Given the description of an element on the screen output the (x, y) to click on. 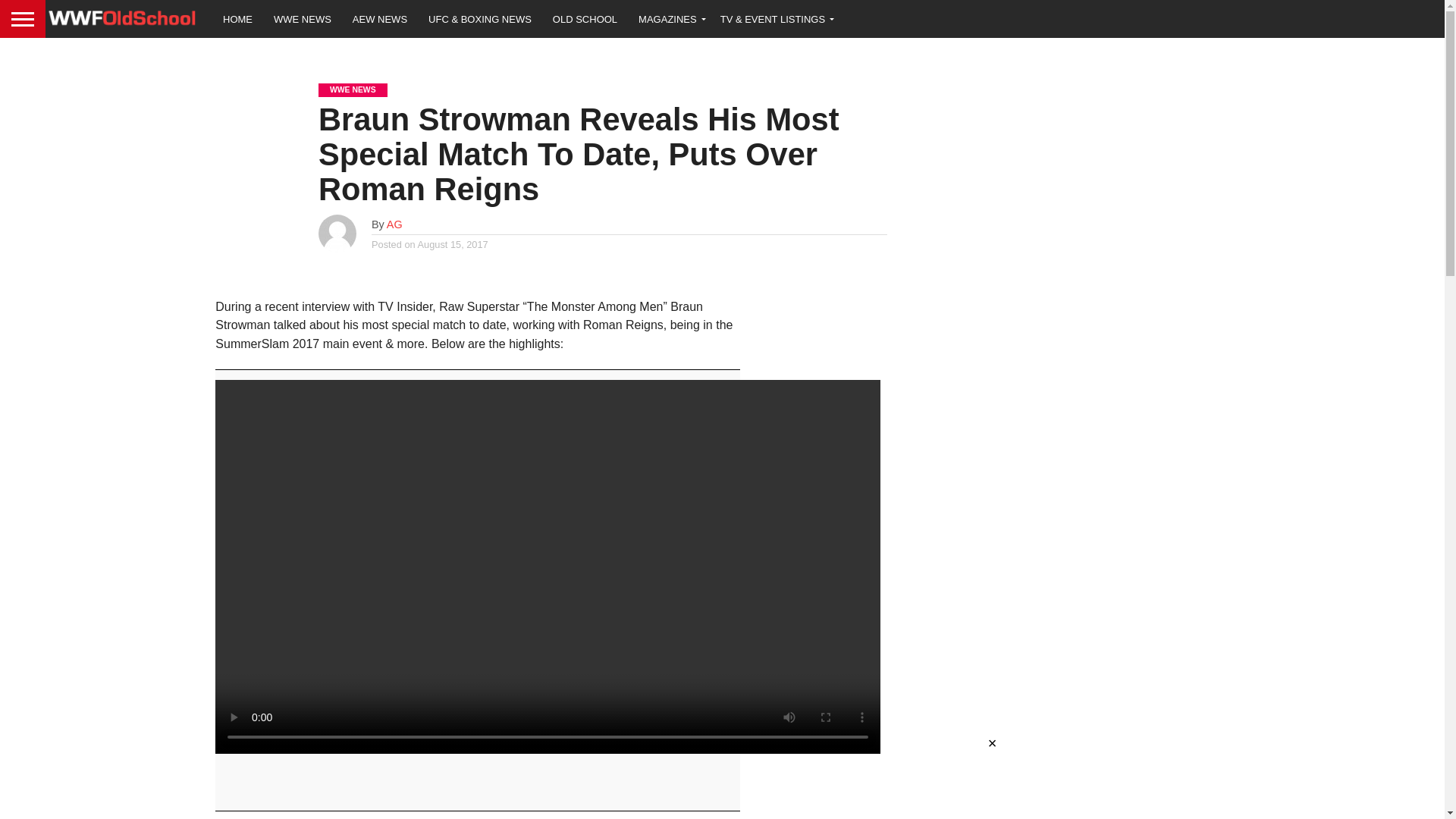
OLD SCHOOL (584, 18)
MAGAZINES (668, 18)
HOME (237, 18)
Posts by AG (395, 224)
AEW NEWS (379, 18)
WWE NEWS (302, 18)
